Given the description of an element on the screen output the (x, y) to click on. 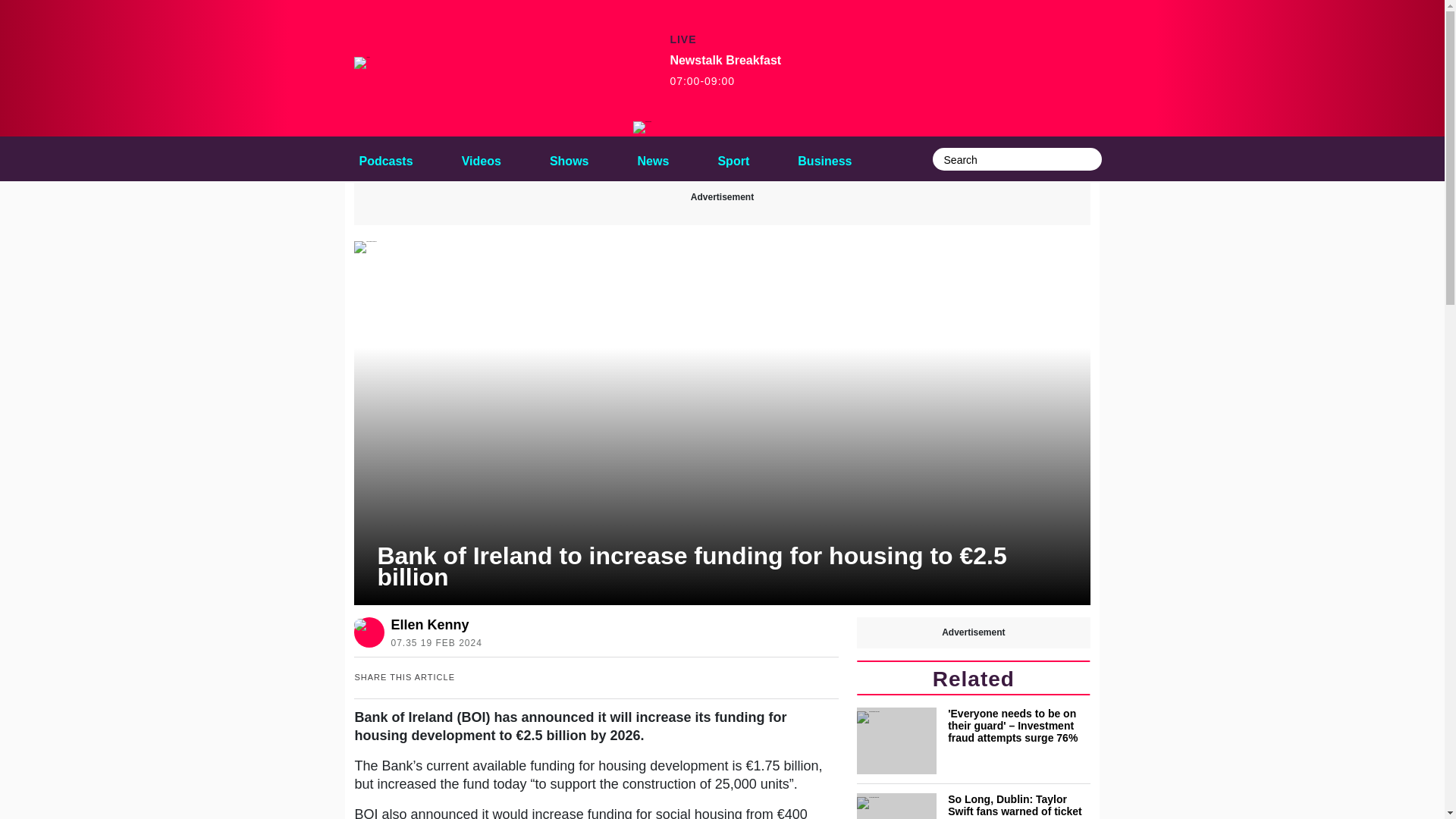
Business (824, 158)
Newstalk Breakfast (642, 127)
Shows (569, 158)
Podcasts (724, 70)
News (384, 158)
Shows (653, 158)
Ellen Kenny (569, 158)
Podcasts (433, 624)
